Given the description of an element on the screen output the (x, y) to click on. 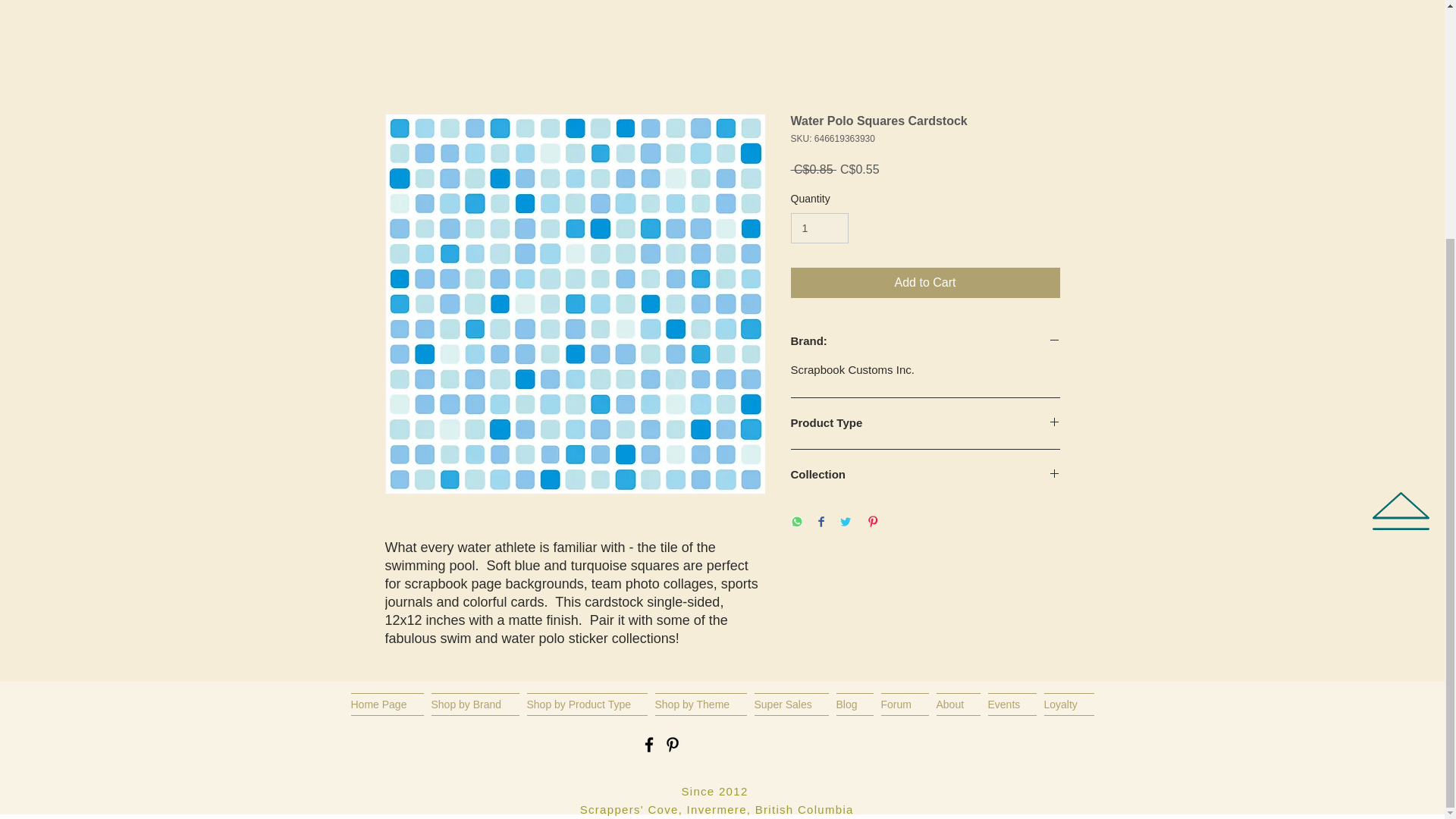
1 (818, 228)
